Given the description of an element on the screen output the (x, y) to click on. 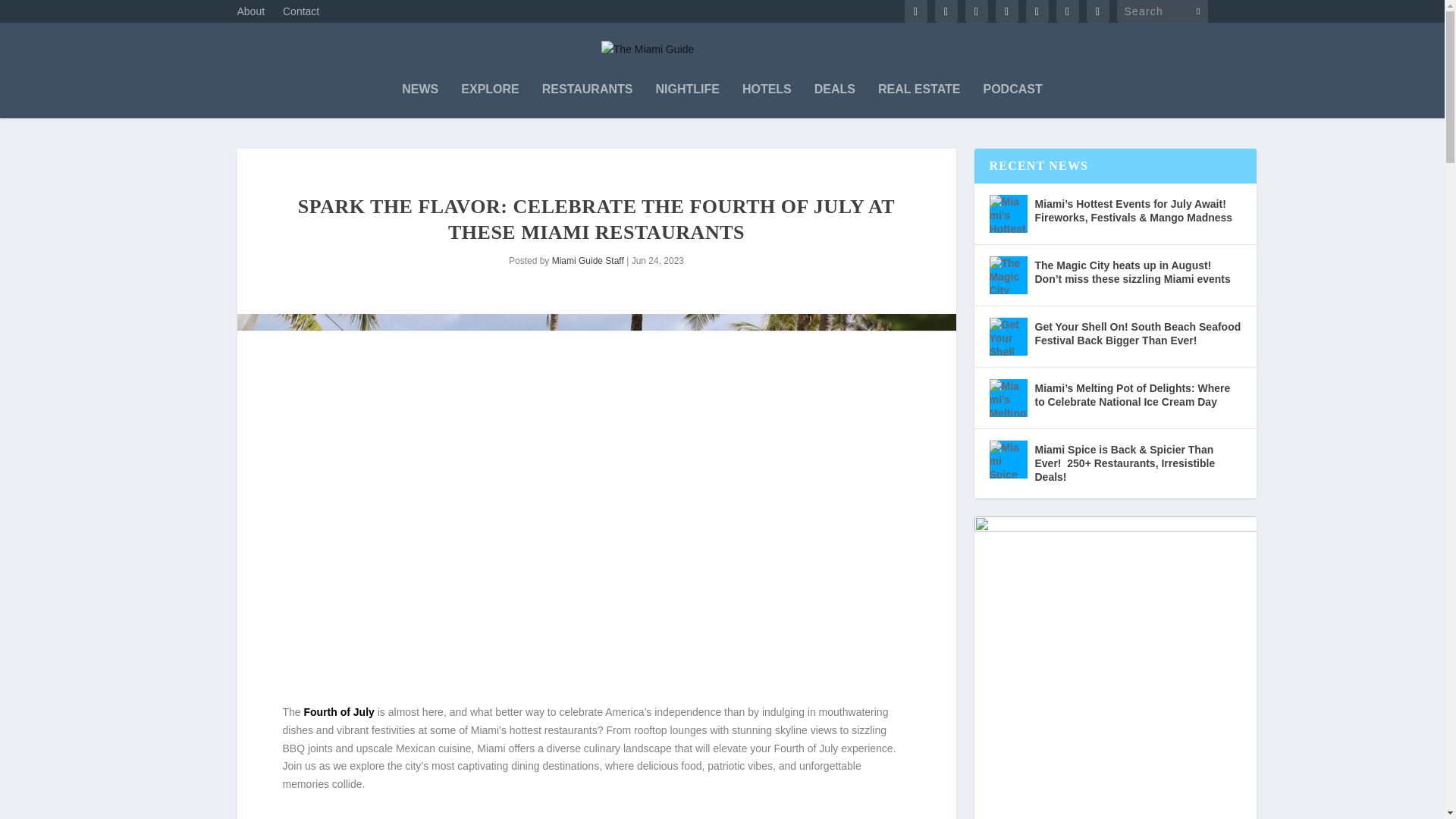
EXPLORE (489, 100)
Posts by Miami Guide Staff (587, 260)
Miami Guide Staff (587, 260)
REAL ESTATE (918, 100)
Search for: (1161, 11)
DEALS (834, 100)
PODCAST (1012, 100)
About (249, 15)
HOTELS (767, 100)
Contact (300, 15)
NEWS (419, 100)
RESTAURANTS (587, 100)
NIGHTLIFE (687, 100)
